Given the description of an element on the screen output the (x, y) to click on. 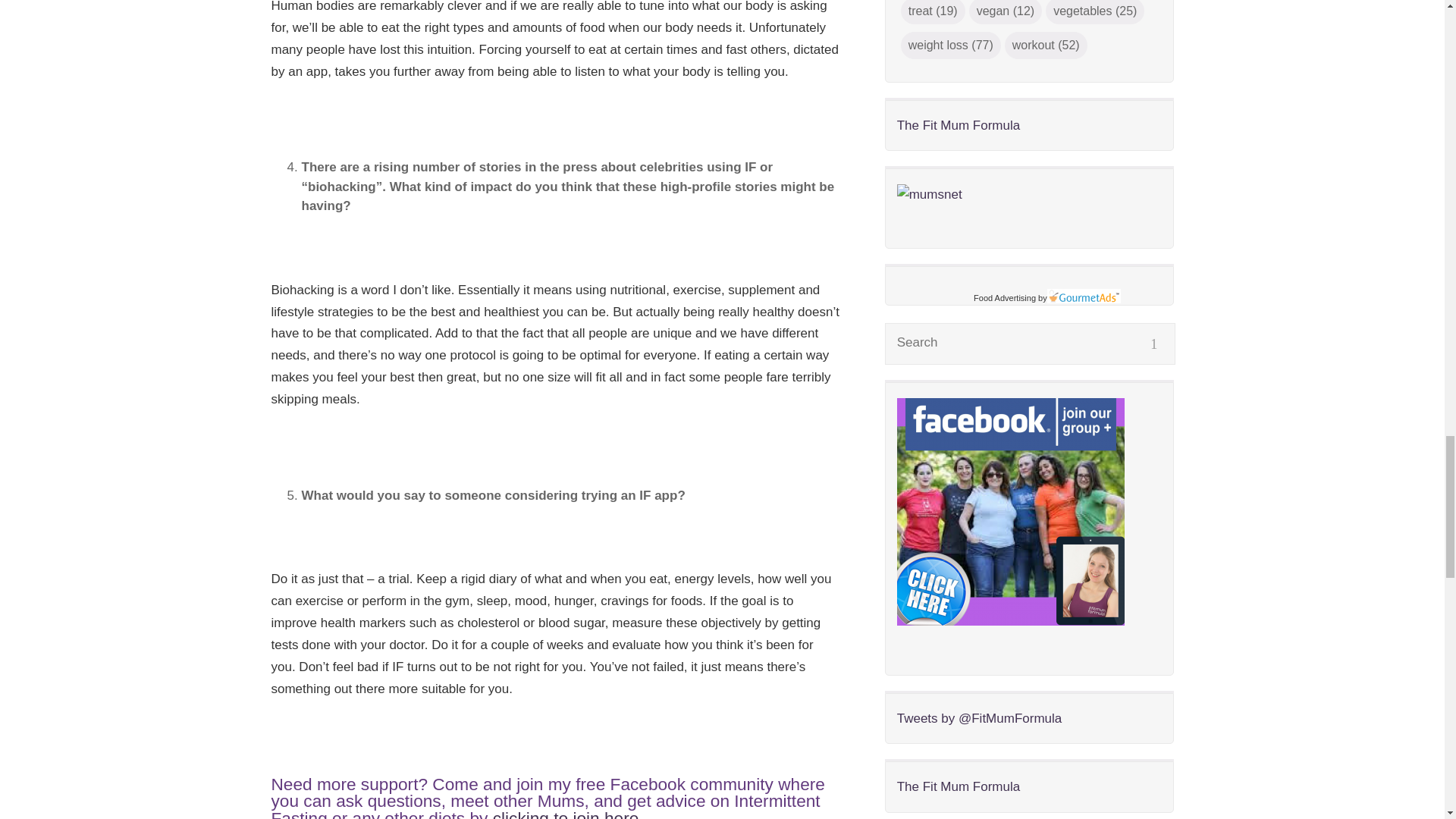
Food Advertising (1004, 297)
